Given the description of an element on the screen output the (x, y) to click on. 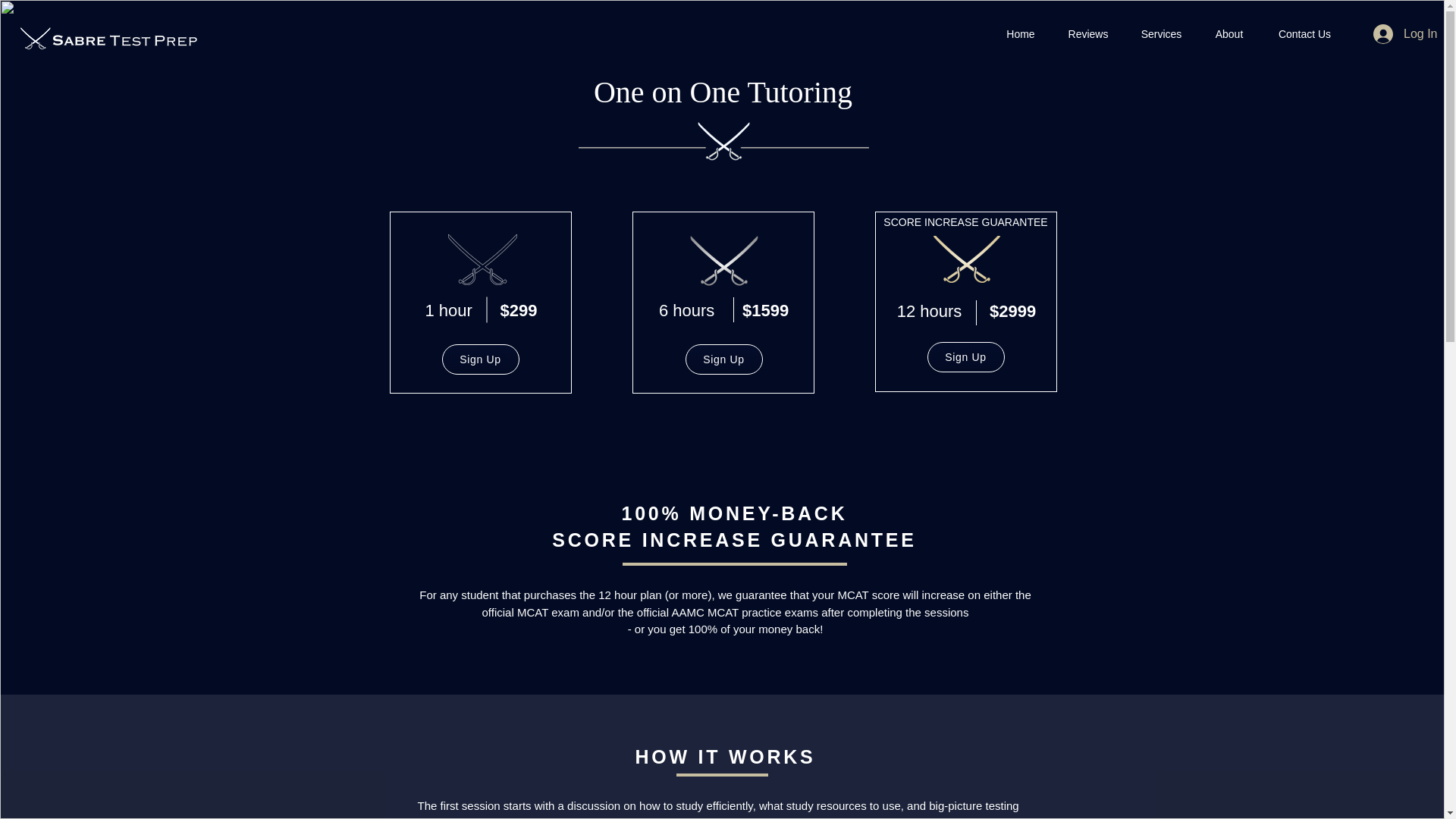
Home (1020, 34)
Reviews (1087, 34)
Sign Up (723, 358)
Log In (1395, 33)
Sign Up (965, 357)
Contact Us (1304, 34)
Sign Up (479, 358)
About (1229, 34)
